Given the description of an element on the screen output the (x, y) to click on. 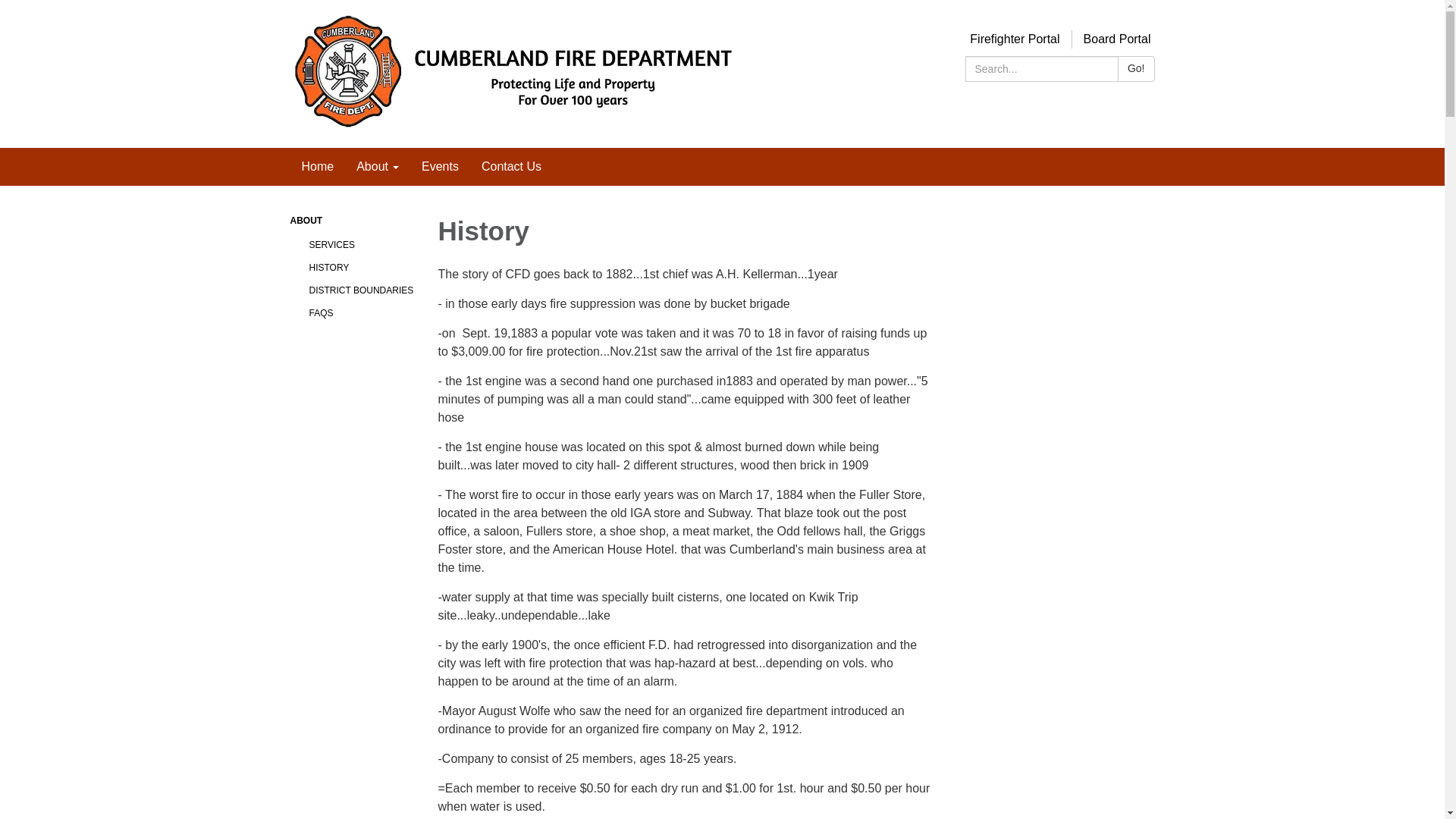
FAQS (361, 313)
Board Portal (1116, 38)
SERVICES (361, 244)
Contact Us (511, 166)
Events (440, 166)
DISTRICT BOUNDARIES (361, 290)
Home (317, 166)
About (377, 166)
HISTORY (361, 267)
ABOUT (351, 221)
